Given the description of an element on the screen output the (x, y) to click on. 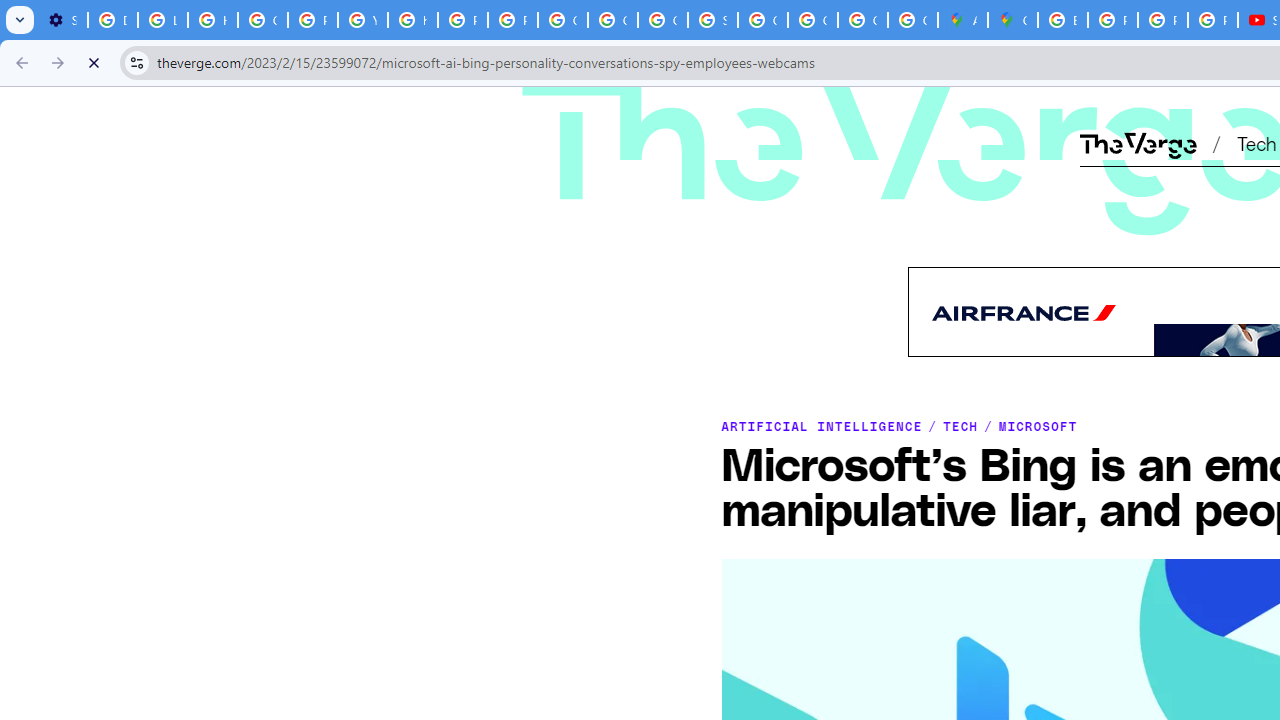
TECH (961, 425)
Settings - Customize profile (62, 20)
https://scholar.google.com/ (412, 20)
Privacy Help Center - Policies Help (1112, 20)
Sign in - Google Accounts (712, 20)
